Given the description of an element on the screen output the (x, y) to click on. 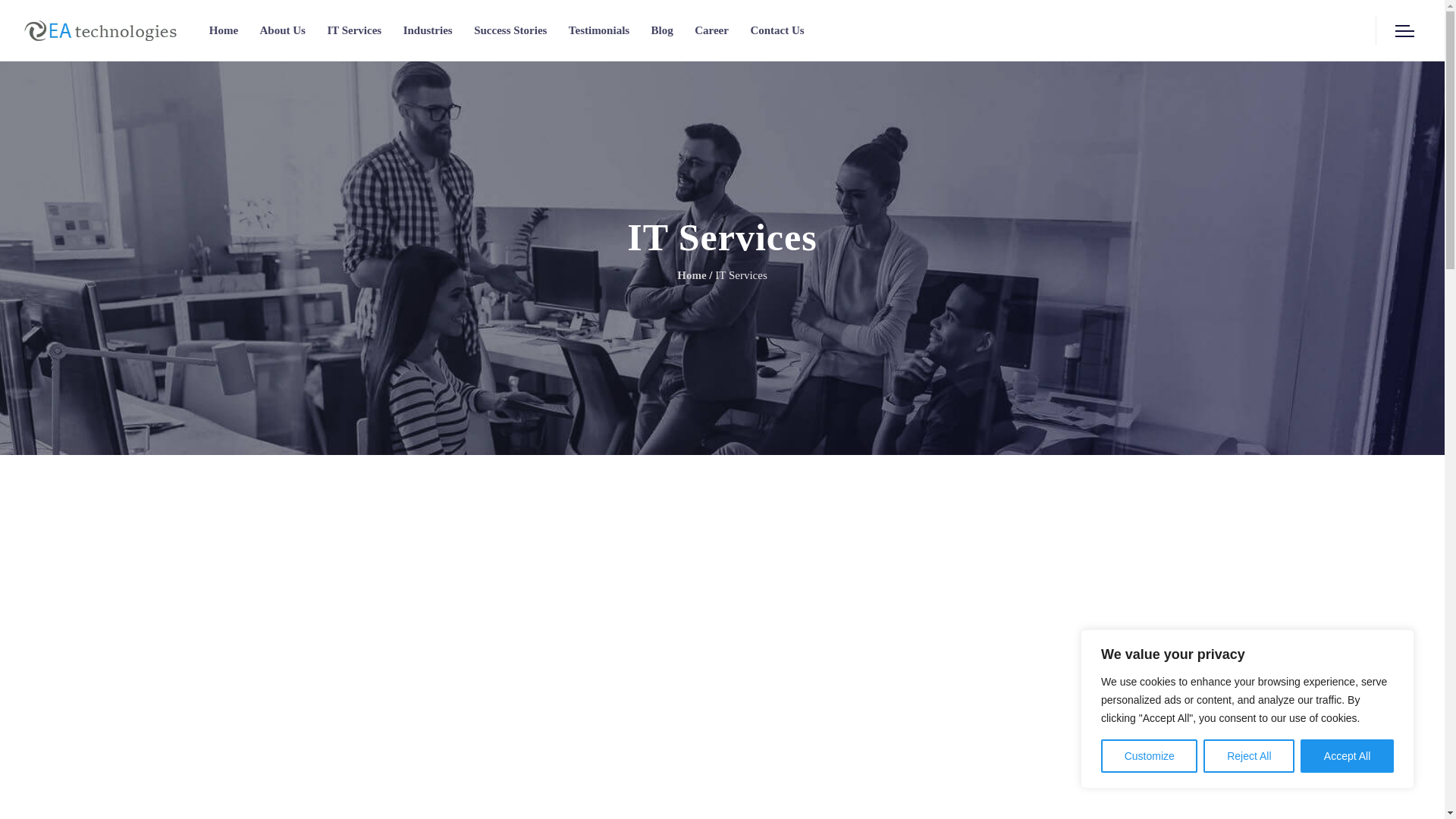
IT Services (353, 29)
Home (223, 29)
Customize (1148, 756)
Reject All (1249, 756)
Accept All (1346, 756)
Industries (427, 29)
About Us (281, 29)
